Given the description of an element on the screen output the (x, y) to click on. 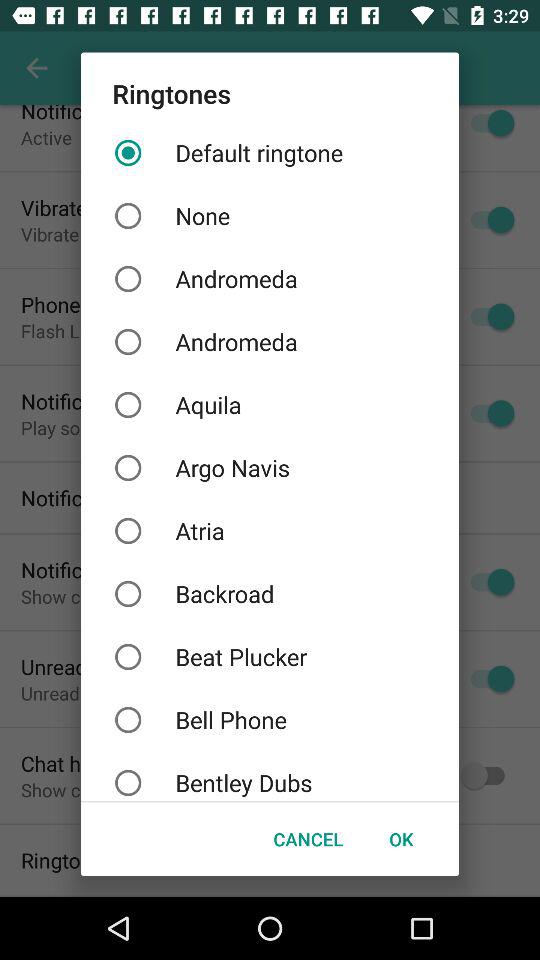
press item next to ok button (308, 838)
